Given the description of an element on the screen output the (x, y) to click on. 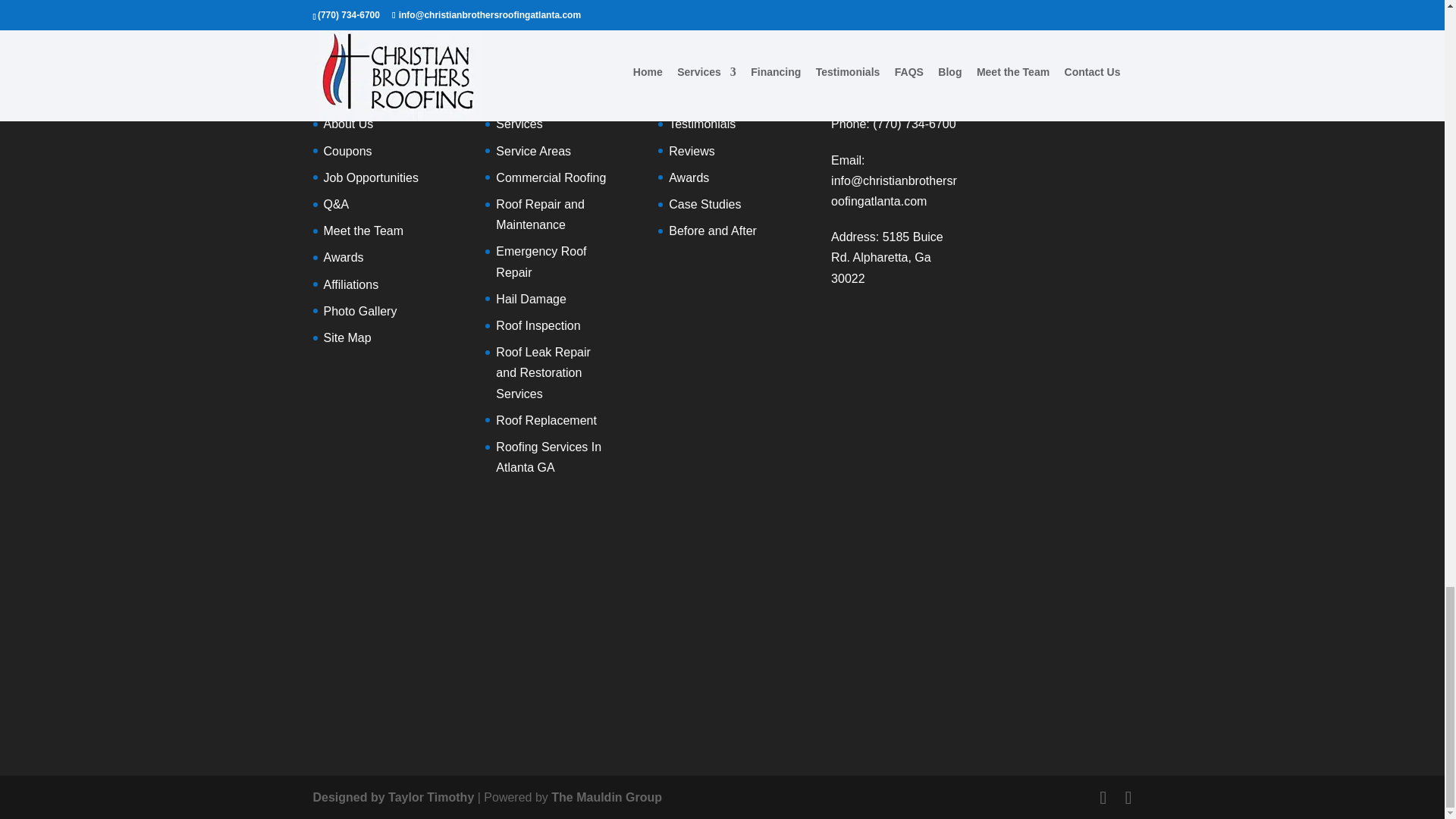
Job Opportunities (370, 177)
Coupons (347, 151)
About Us (347, 123)
